Given the description of an element on the screen output the (x, y) to click on. 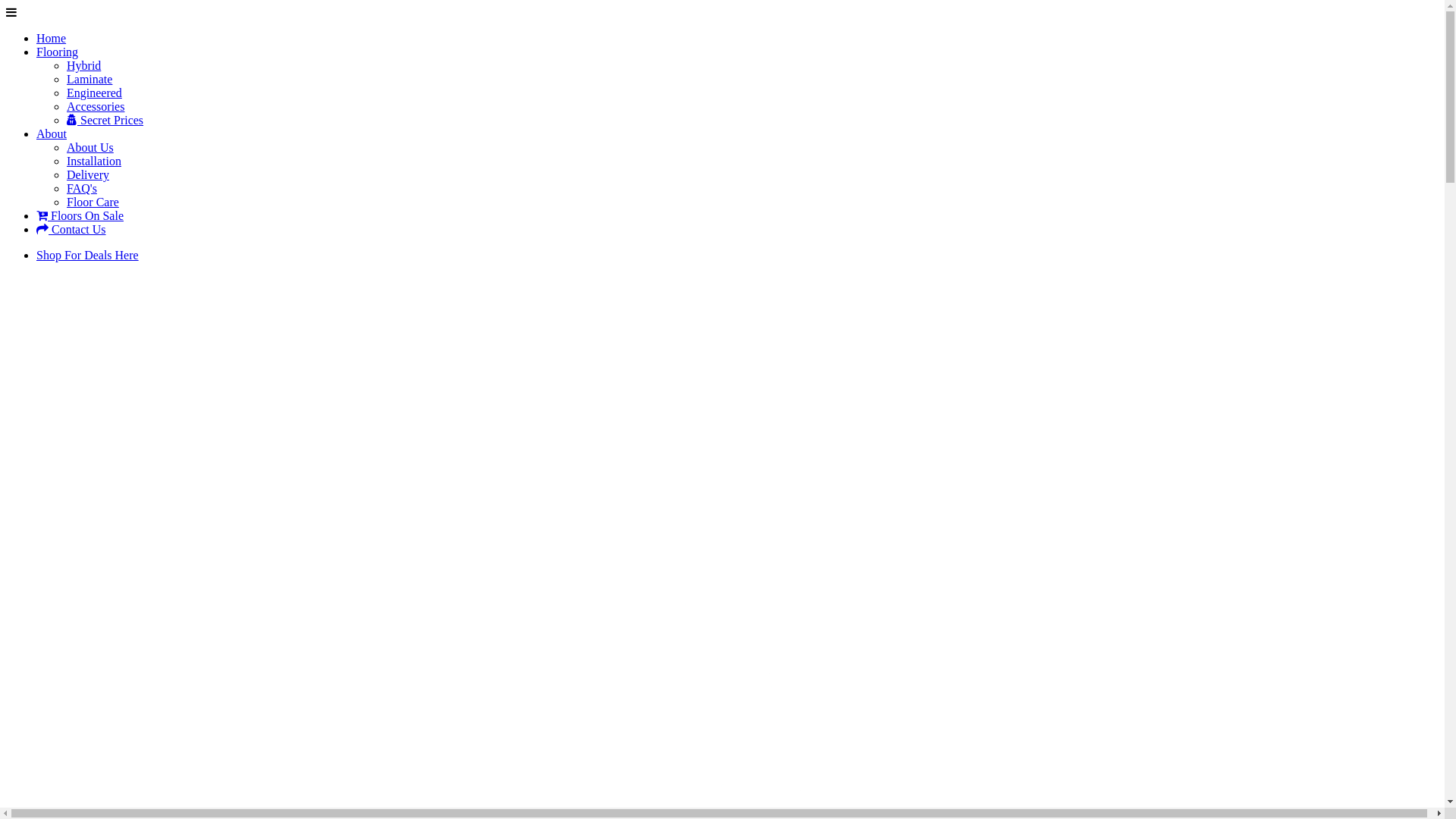
Contact Us Element type: text (71, 228)
Engineered Element type: text (94, 92)
Hybrid Element type: text (83, 65)
Installation Element type: text (93, 160)
FAQ's Element type: text (81, 188)
Secret Prices Element type: text (104, 119)
Flooring Element type: text (57, 51)
Accessories Element type: text (95, 106)
About Element type: text (51, 133)
About Us Element type: text (89, 147)
Shop For Deals Here Element type: text (87, 254)
Home Element type: text (50, 37)
Delivery Element type: text (87, 174)
Floor Care Element type: text (92, 201)
About Us Element type: hover (728, 369)
Laminate Element type: text (89, 78)
Floors On Sale Element type: text (79, 215)
Floors On Sale Element type: hover (728, 558)
